Given the description of an element on the screen output the (x, y) to click on. 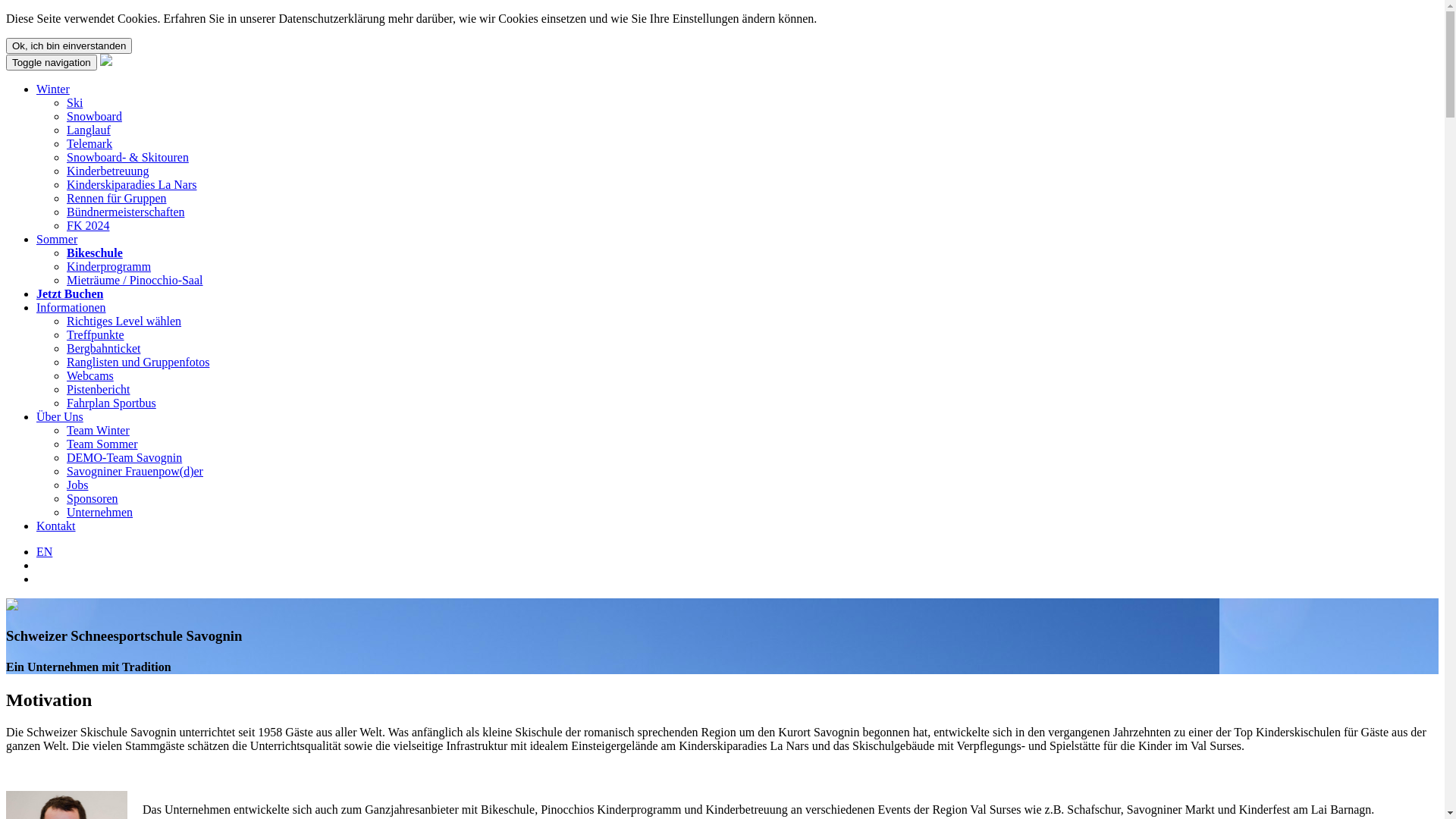
Ski Element type: text (74, 102)
Fahrplan Sportbus Element type: text (111, 402)
Kinderbetreuung Element type: text (107, 170)
Team Sommer Element type: text (102, 443)
Telemark Element type: text (89, 143)
Kontakt Element type: text (55, 525)
Bergbahnticket Element type: text (103, 348)
Unternehmen Element type: text (99, 511)
Team Winter Element type: text (97, 429)
Sommer Element type: text (56, 238)
Snowboard Element type: text (94, 115)
Kinderprogramm Element type: text (108, 266)
Webcams Element type: text (89, 375)
FK 2024 Element type: text (87, 225)
Bikeschule Element type: text (94, 252)
Ranglisten und Gruppenfotos Element type: text (137, 361)
EN Element type: text (44, 551)
Jetzt Buchen Element type: text (69, 293)
Savogniner Frauenpow(d)er Element type: text (134, 470)
Toggle navigation Element type: text (51, 62)
Informationen Element type: text (71, 307)
Langlauf Element type: text (88, 129)
Kinderskiparadies La Nars Element type: text (131, 184)
Pistenbericht Element type: text (98, 388)
Sponsoren Element type: text (92, 498)
Jobs Element type: text (76, 484)
Ok, ich bin einverstanden Element type: text (68, 45)
DEMO-Team Savognin Element type: text (124, 457)
Winter Element type: text (52, 88)
Snowboard- & Skitouren Element type: text (127, 156)
Treffpunkte Element type: text (95, 334)
